Given the description of an element on the screen output the (x, y) to click on. 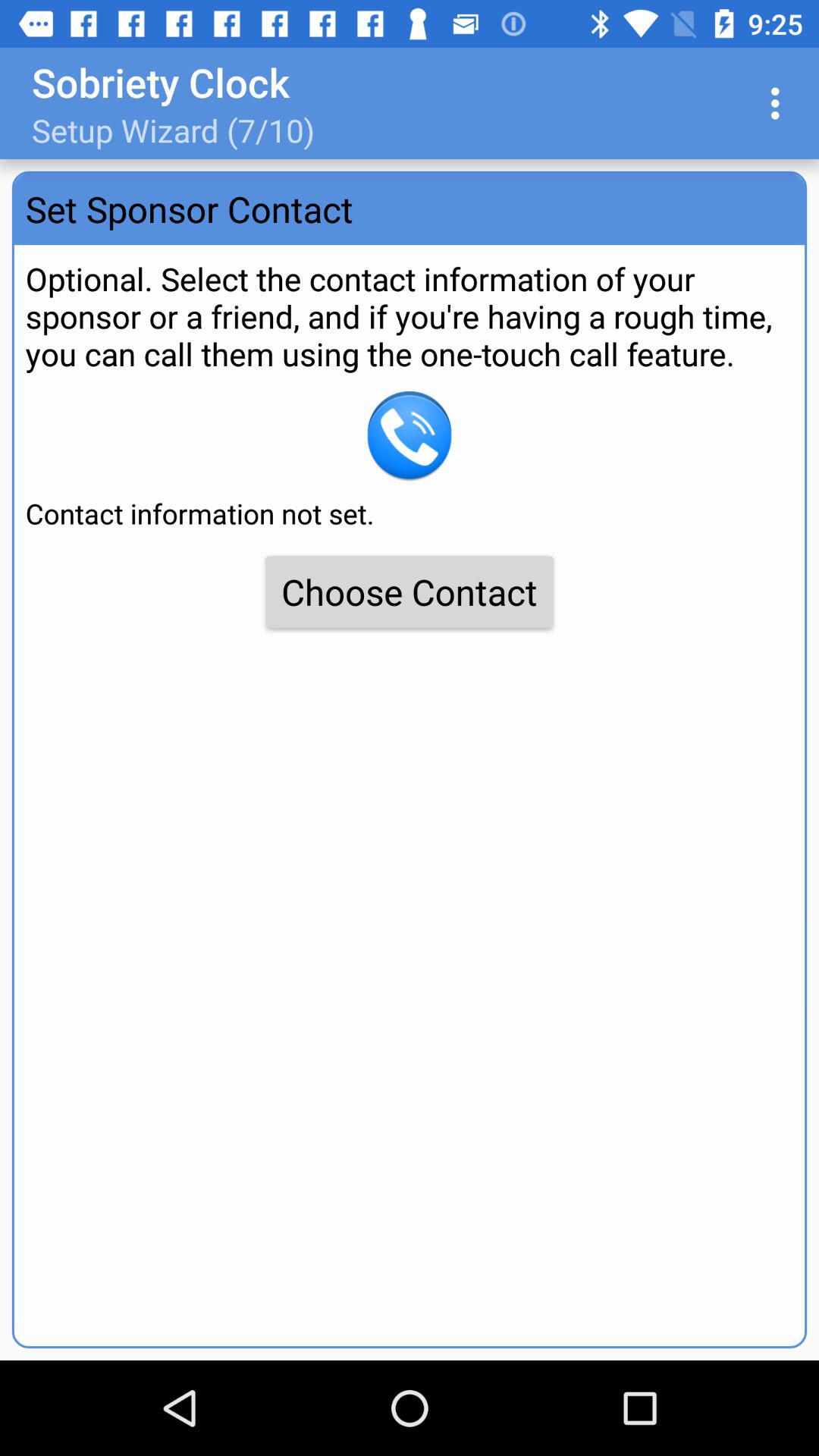
press icon above set sponsor contact item (779, 103)
